Given the description of an element on the screen output the (x, y) to click on. 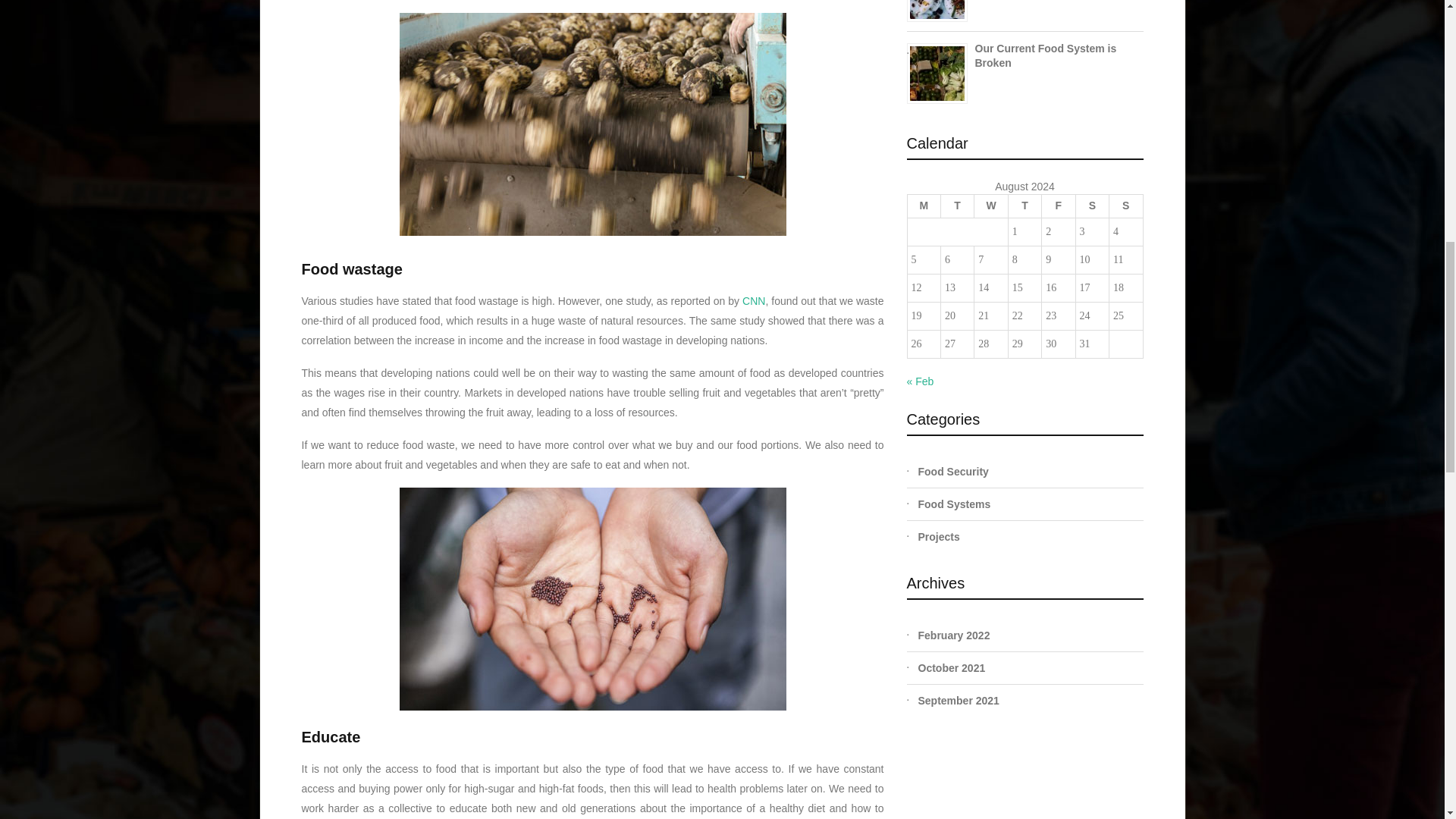
Wednesday (990, 206)
Tuesday (957, 206)
CNN (753, 300)
October 2021 (1029, 668)
Our Current Food System is Broken (1045, 55)
Projects (1029, 537)
Food Systems (1029, 504)
September 2021 (1029, 700)
Food Security (1029, 471)
Monday (923, 206)
Sunday (1125, 206)
February 2022 (1029, 635)
Friday (1058, 206)
Thursday (1024, 206)
Saturday (1091, 206)
